Given the description of an element on the screen output the (x, y) to click on. 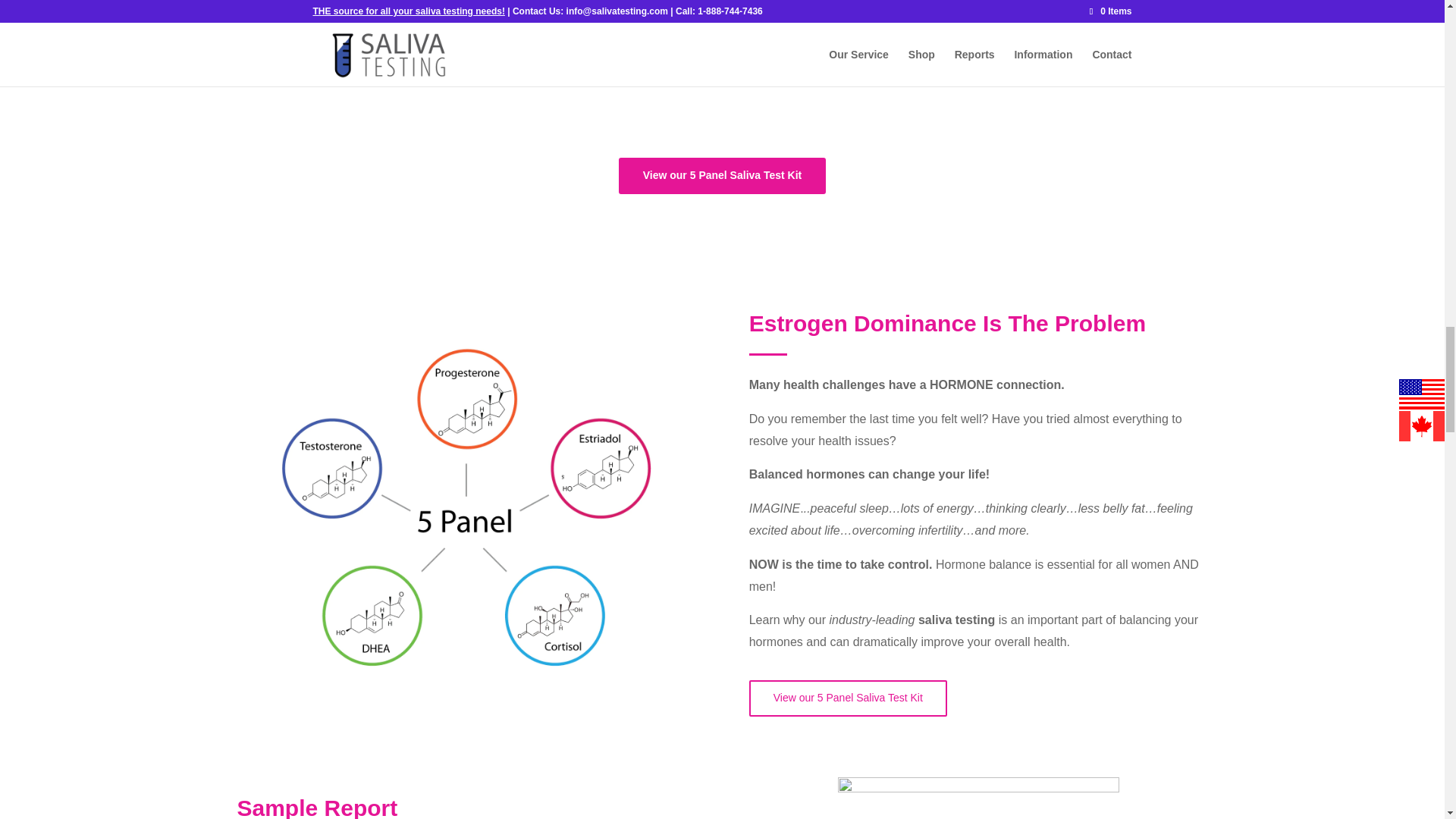
View our 5 Panel Saliva Test Kit (722, 176)
View our 5 Panel Saliva Test Kit (848, 698)
